Given the description of an element on the screen output the (x, y) to click on. 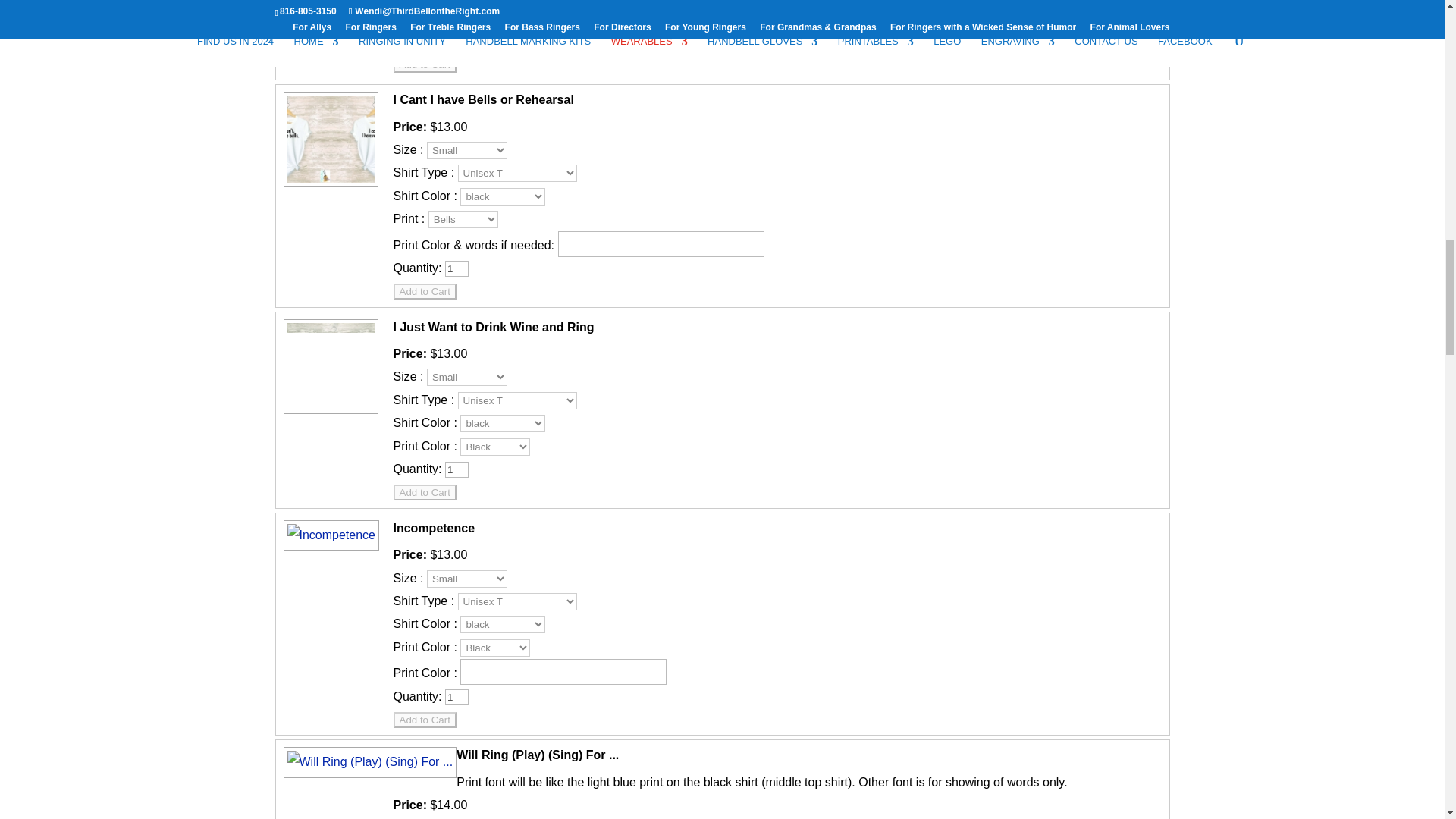
I Just Want to Drink Wine and Ring (328, 412)
1 (456, 268)
1 (456, 469)
Incompetence (328, 534)
Add to Cart (424, 64)
1 (456, 41)
Add to Cart (424, 291)
I Cant I have Bells or Rehearsal (328, 185)
